Given the description of an element on the screen output the (x, y) to click on. 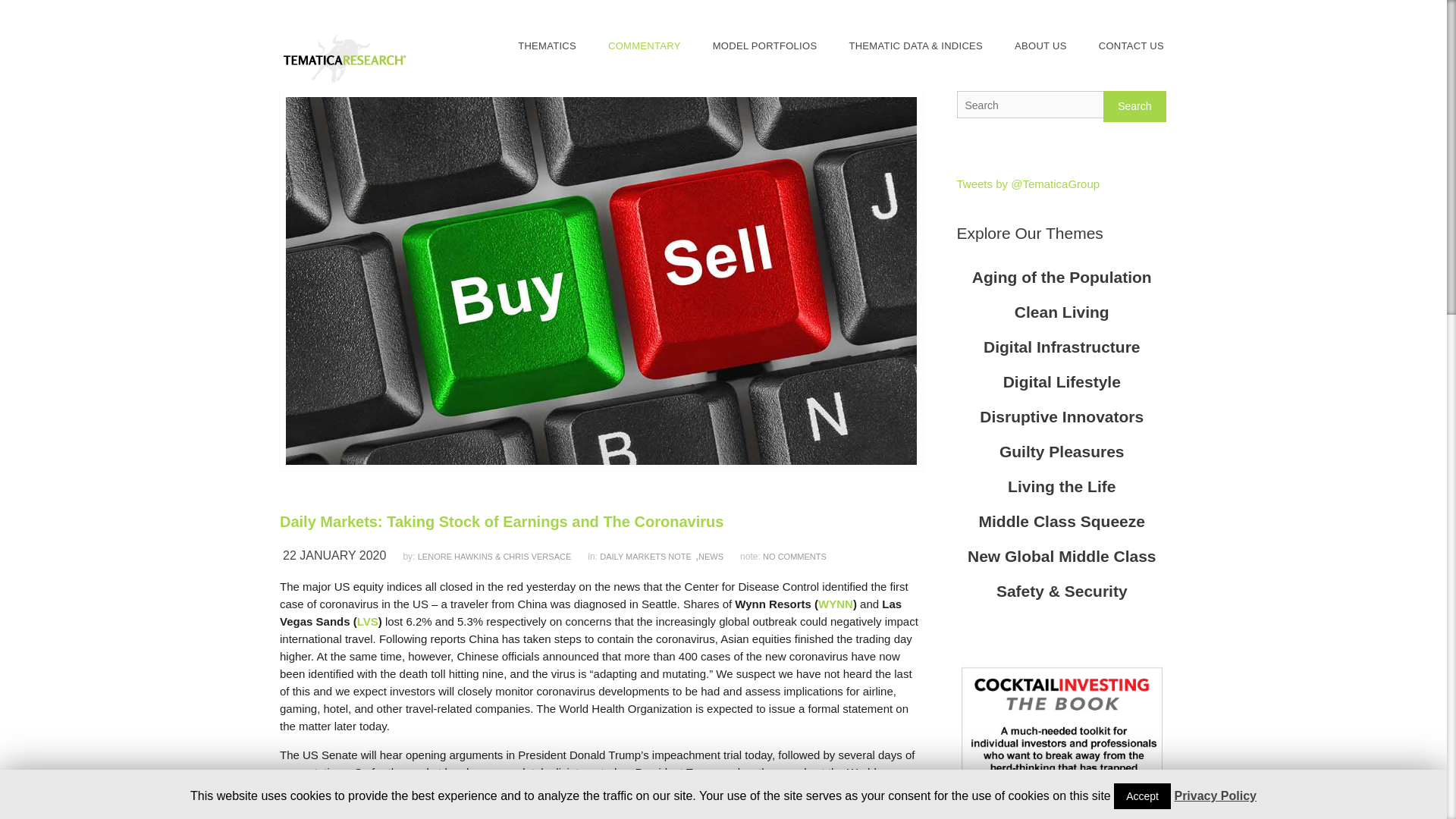
WYNN (835, 603)
22 JANUARY 2020 (340, 554)
Click to leave a comment (794, 556)
LVS (367, 621)
THEMATICS (547, 45)
NO COMMENTS (794, 556)
CONTACT US (1131, 45)
COMMENTARY (644, 45)
DAILY MARKETS NOTE (647, 556)
ABOUT US (1040, 45)
Search (1134, 106)
Daily Markets: Taking Stock of Earnings and The Coronavirus (601, 521)
NEWS (717, 556)
MODEL PORTFOLIOS (764, 45)
